Given the description of an element on the screen output the (x, y) to click on. 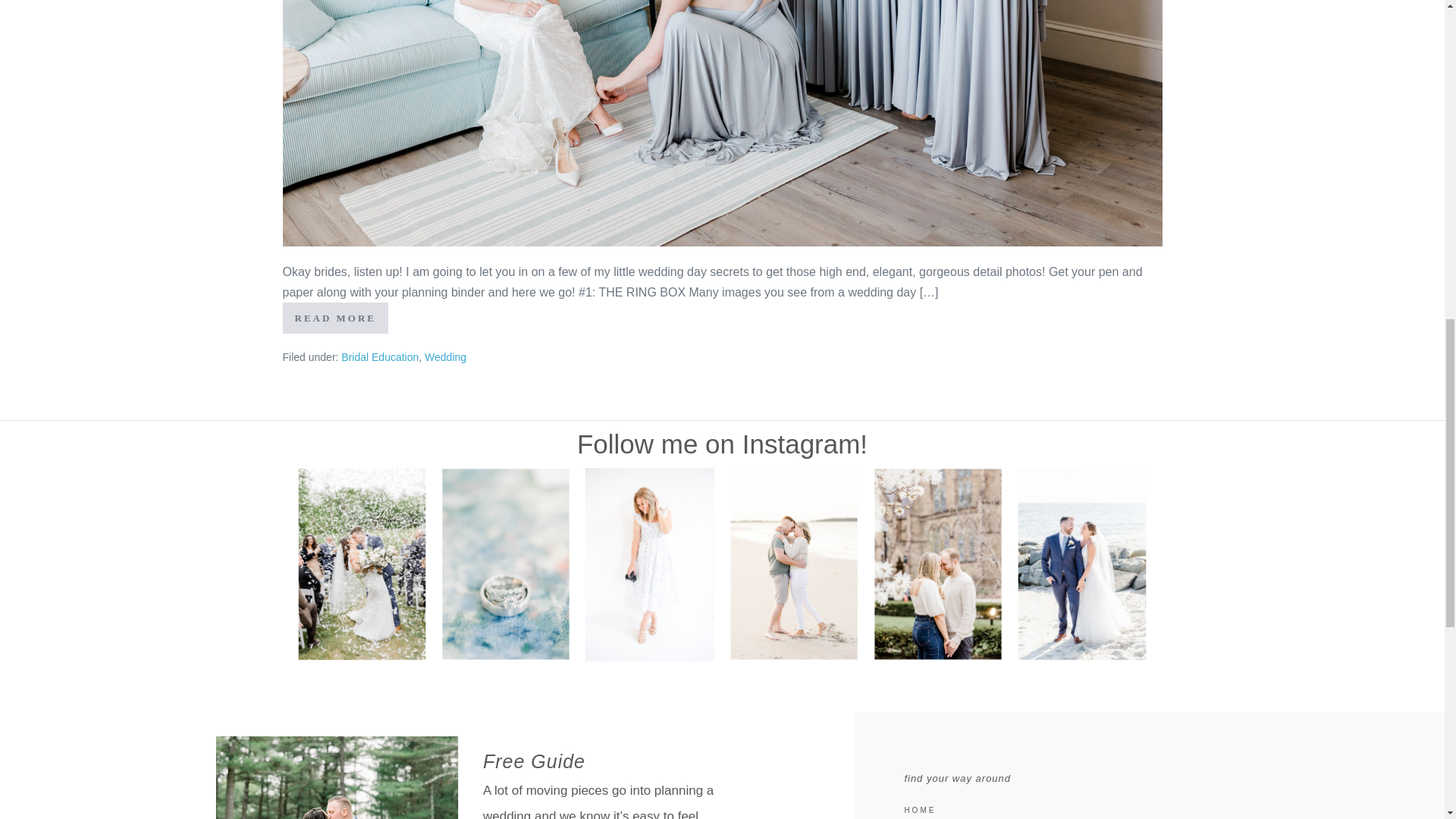
READ MORE (335, 317)
Bridal Education (379, 357)
Wedding (445, 357)
HOME (1157, 808)
Follow me on Instagram! (721, 443)
